Given the description of an element on the screen output the (x, y) to click on. 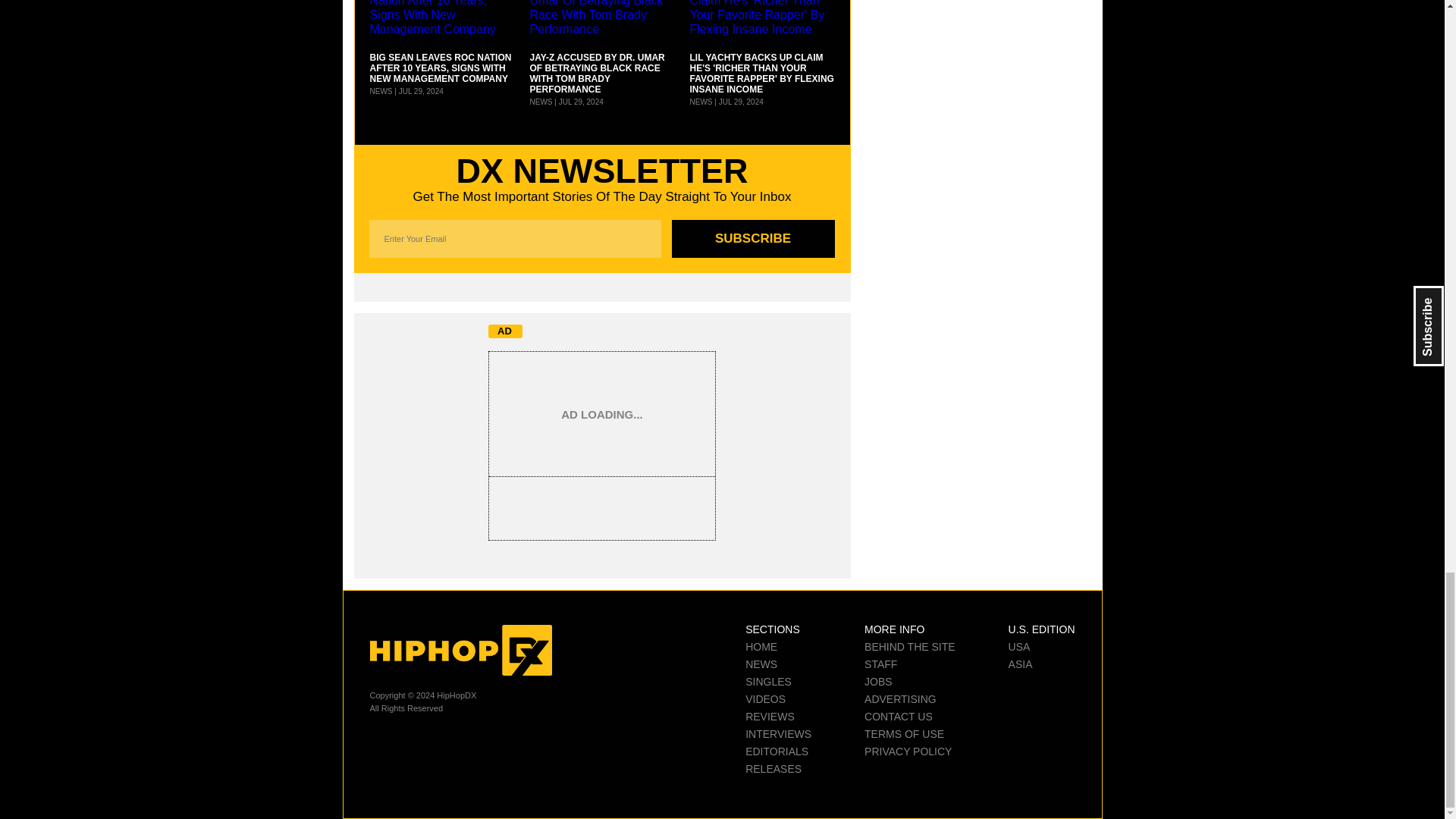
HipHopDX (460, 650)
